Given the description of an element on the screen output the (x, y) to click on. 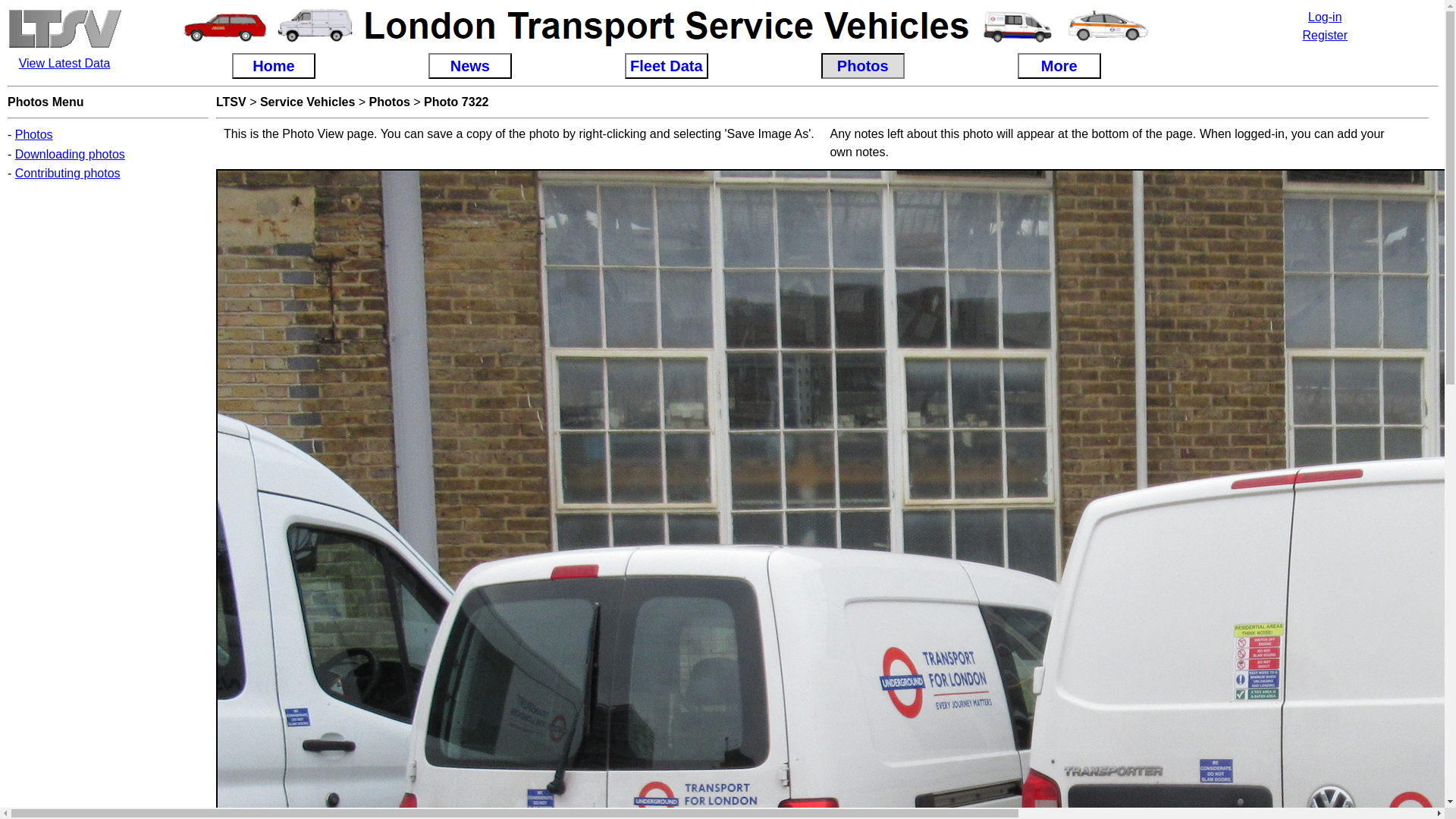
Click here to go to the LTSV portal page (230, 101)
Service Vehicles (307, 101)
View Latest Data (64, 62)
Click here for the main photo gallery (33, 133)
Photos (33, 133)
Click here to go to the Photos page (389, 101)
Photos (389, 101)
Contributing photos (67, 173)
LTSV (230, 101)
Register. Click here to create a new user account. (1325, 34)
Click here to see other LTSV websites (63, 44)
Click here to see the latest additions and edits (64, 62)
Click here to go to the Service Vehicle home page (307, 101)
Click here to see information about downloading photos (69, 154)
